Given the description of an element on the screen output the (x, y) to click on. 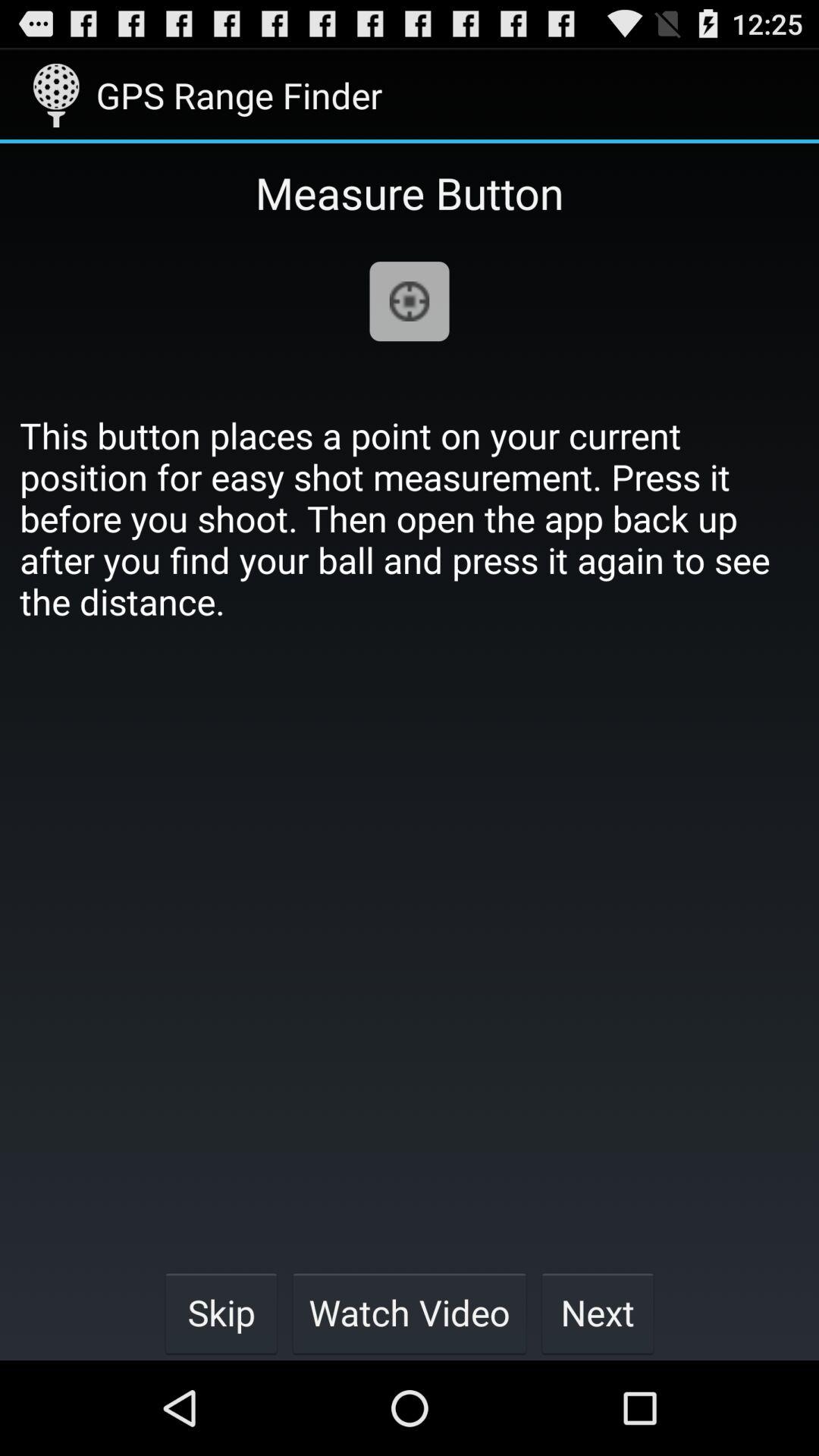
select button to the right of watch video (597, 1312)
